Given the description of an element on the screen output the (x, y) to click on. 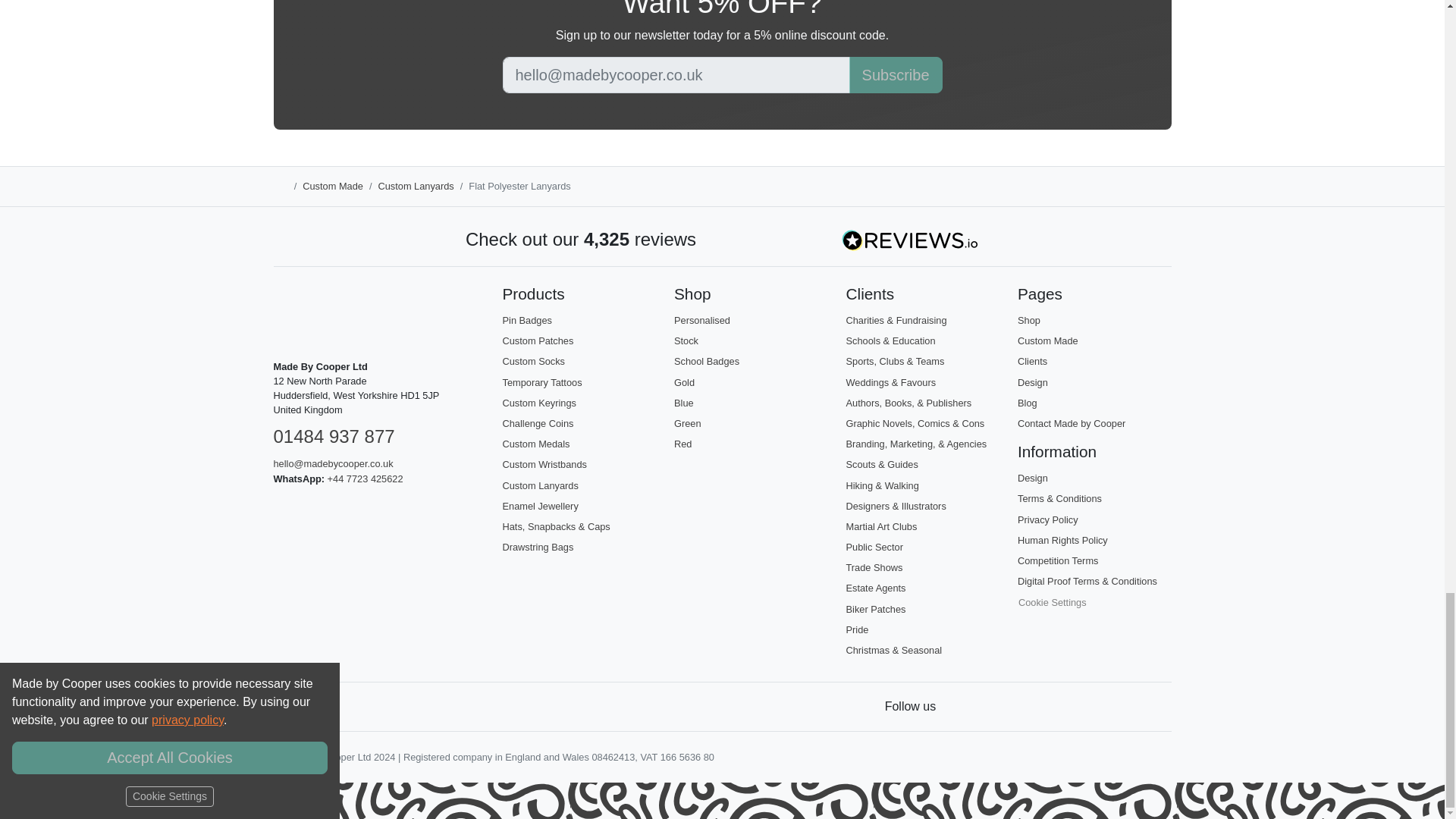
Custom Made (332, 185)
Made By Cooper Logo (303, 316)
Home (279, 186)
Subscribe (895, 74)
Home (279, 185)
